Given the description of an element on the screen output the (x, y) to click on. 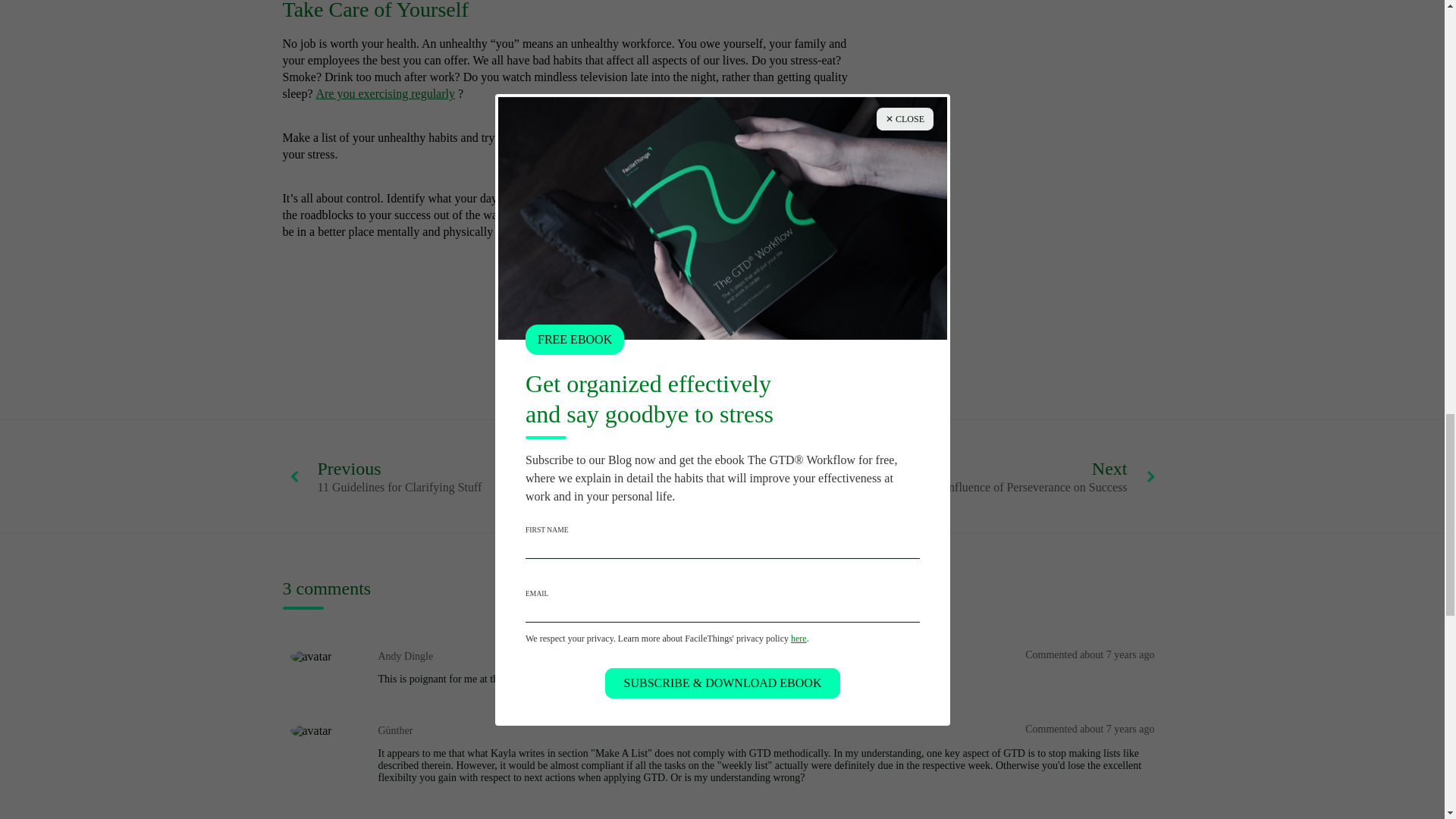
Are you exercising regularly (385, 475)
